Given the description of an element on the screen output the (x, y) to click on. 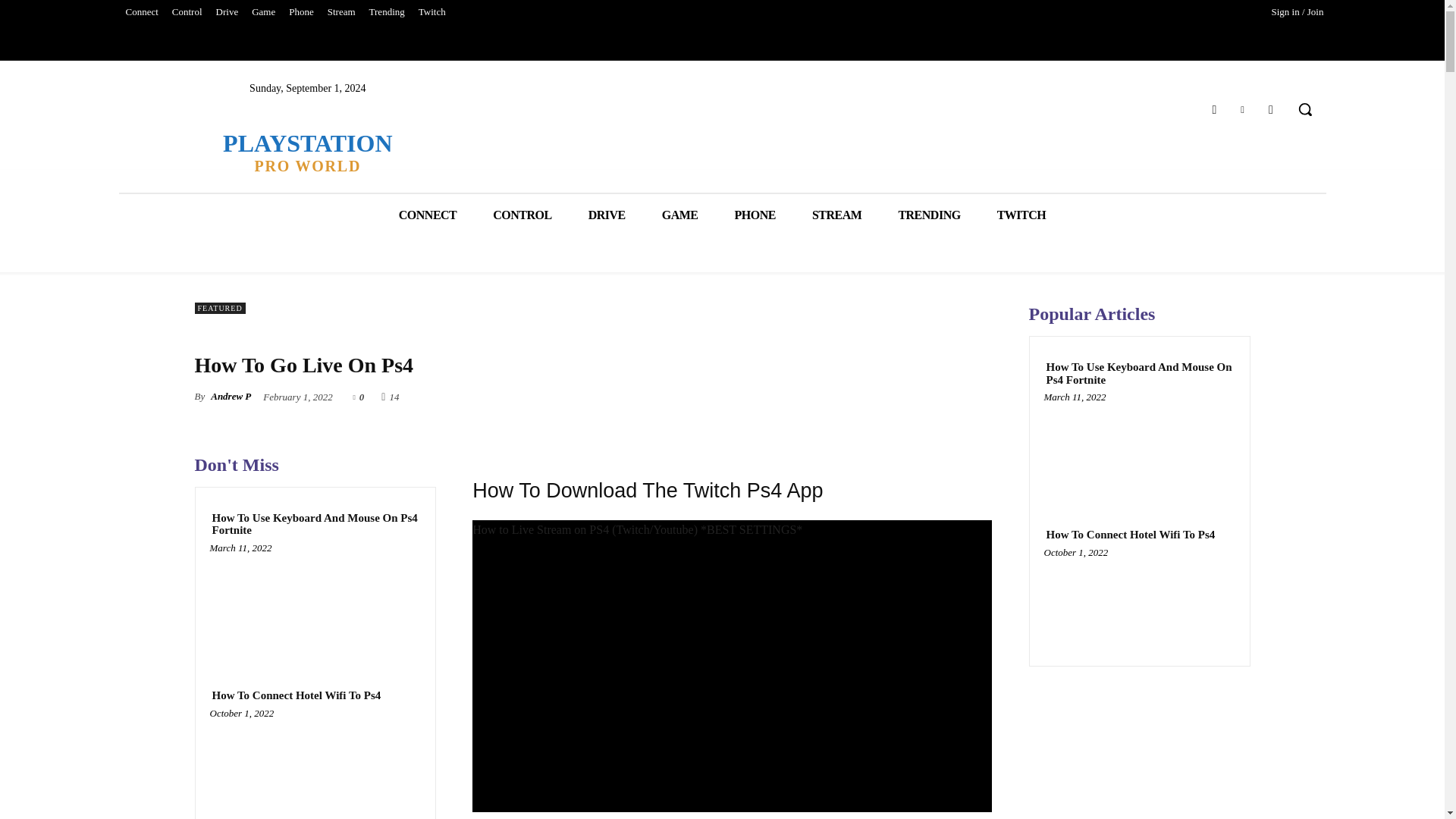
Facebook (1214, 109)
Youtube (1270, 109)
How To Use Keyboard And Mouse On Ps4 Fortnite (306, 151)
DRIVE (314, 603)
Twitter (606, 214)
Drive (1241, 109)
Control (227, 12)
How To Use Keyboard And Mouse On Ps4 Fortnite (187, 12)
CONTROL (314, 524)
